Given the description of an element on the screen output the (x, y) to click on. 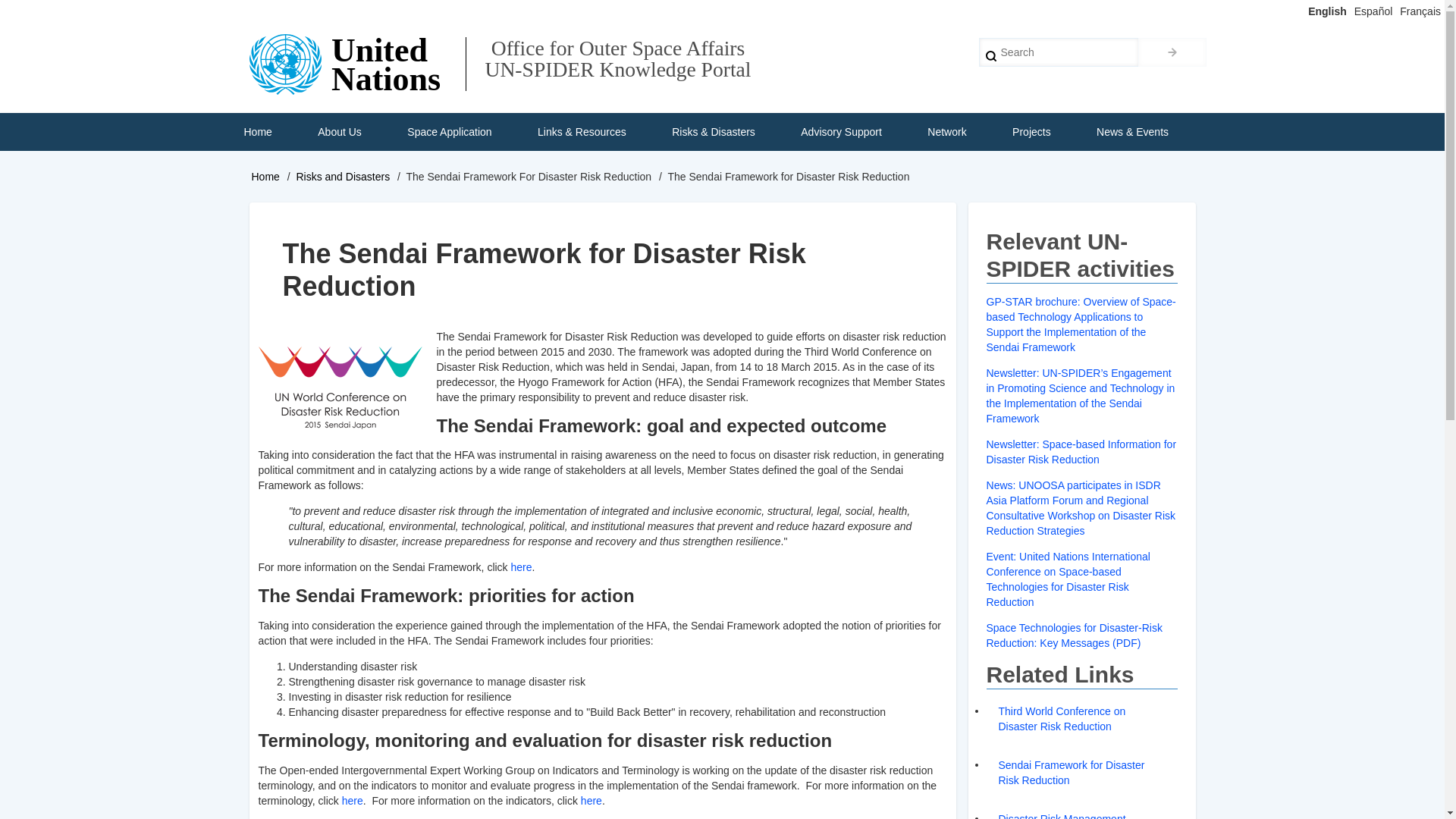
Space Application (448, 131)
. (1172, 51)
The Sendai Framework for Disaster Risk Reduction (342, 386)
Enter the terms you wish to search for. (1058, 51)
. (1172, 51)
About Us (339, 131)
Home (256, 131)
. (1172, 51)
Advisory Support (840, 131)
English (1326, 10)
